Given the description of an element on the screen output the (x, y) to click on. 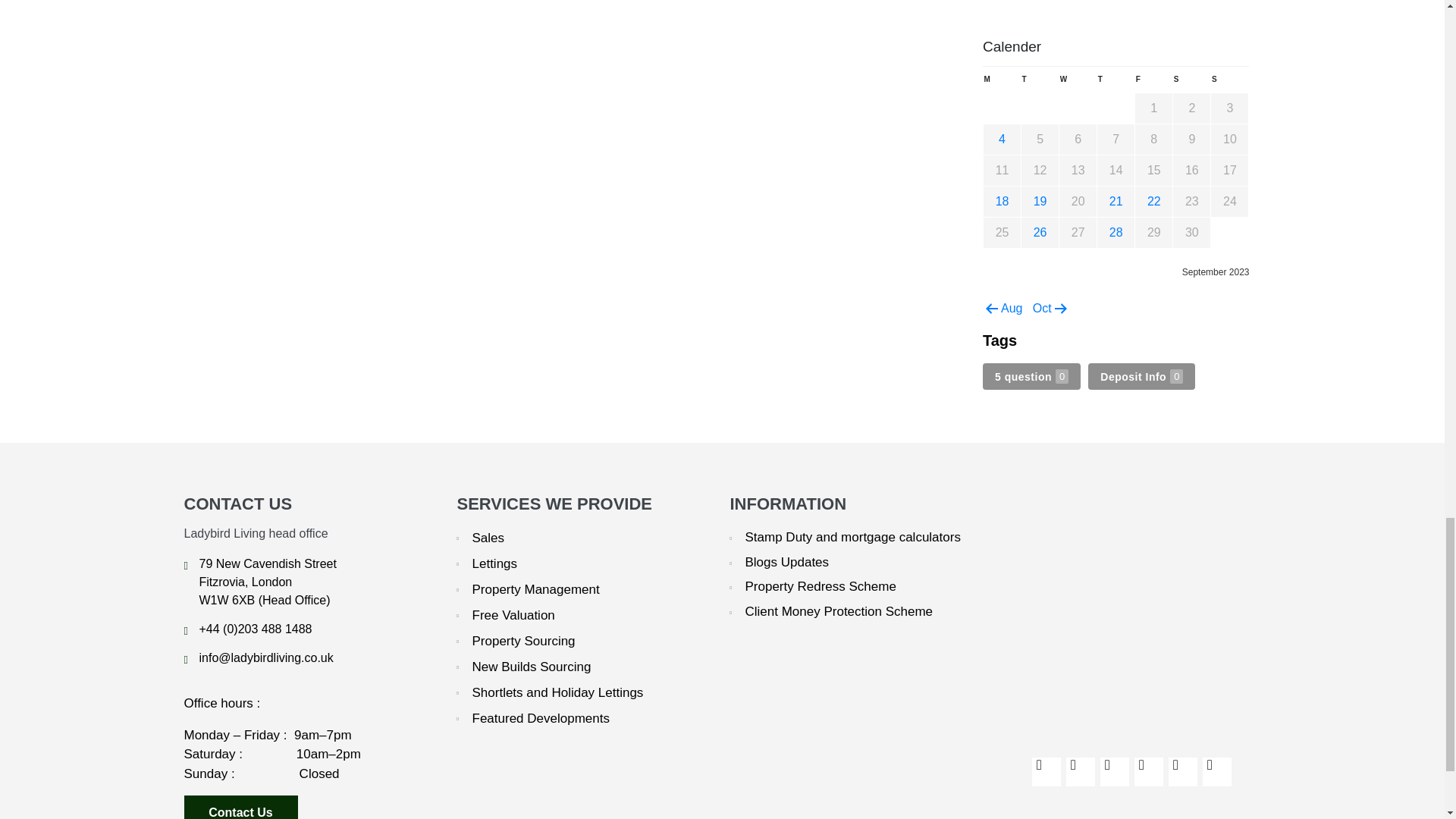
Monday (1003, 82)
Friday (1154, 82)
Wednesday (1078, 82)
Thursday (1116, 82)
Saturday (1192, 82)
Tuesday (1040, 82)
